Given the description of an element on the screen output the (x, y) to click on. 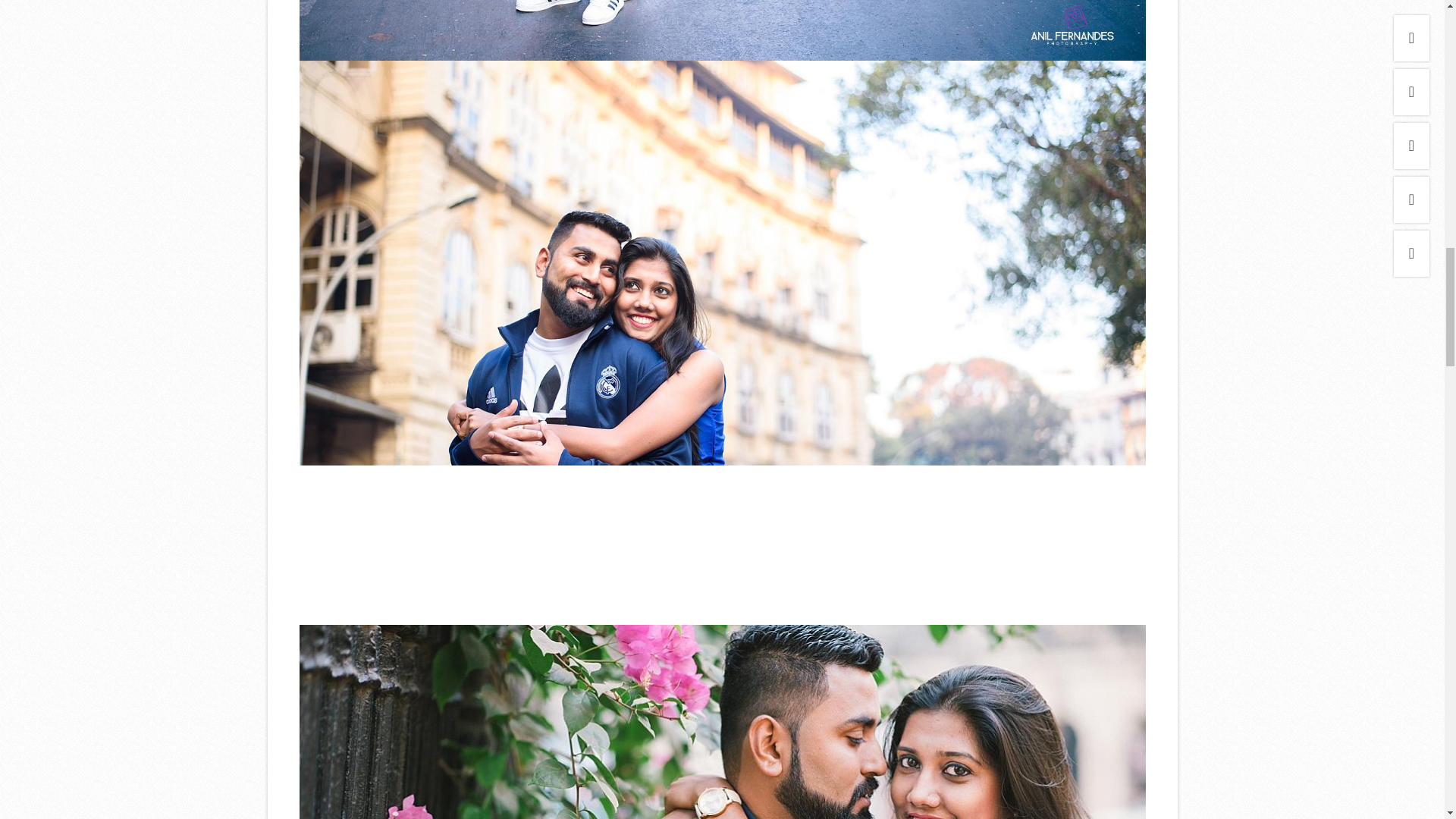
Mumbai PreWedding PhotoShoot (721, 30)
